Given the description of an element on the screen output the (x, y) to click on. 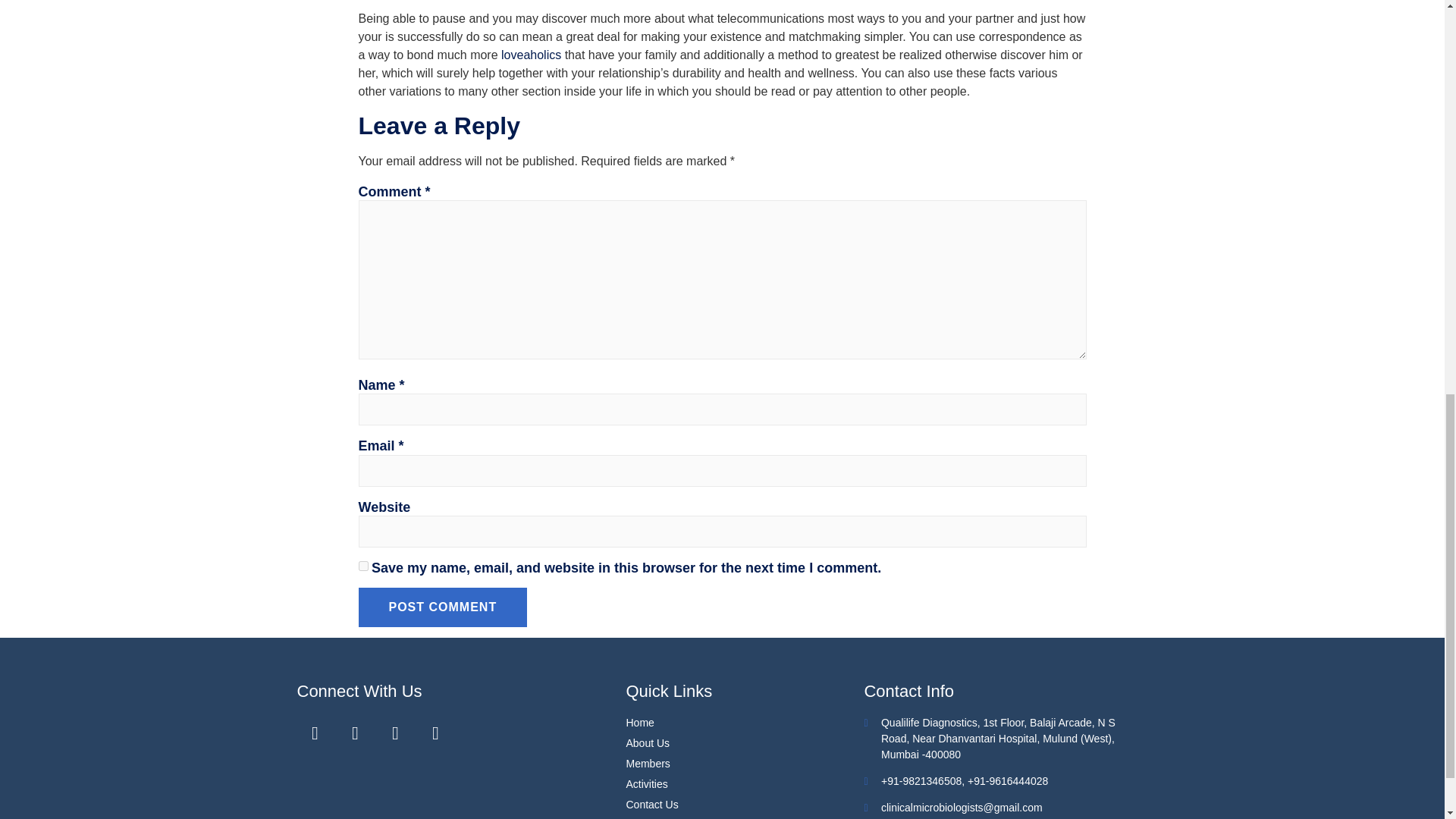
loveaholics (530, 54)
Activities (744, 784)
About Us (744, 743)
yes (363, 565)
Home (744, 722)
Members (744, 763)
Contact Us (744, 804)
Post Comment (442, 607)
Post Comment (442, 607)
